Given the description of an element on the screen output the (x, y) to click on. 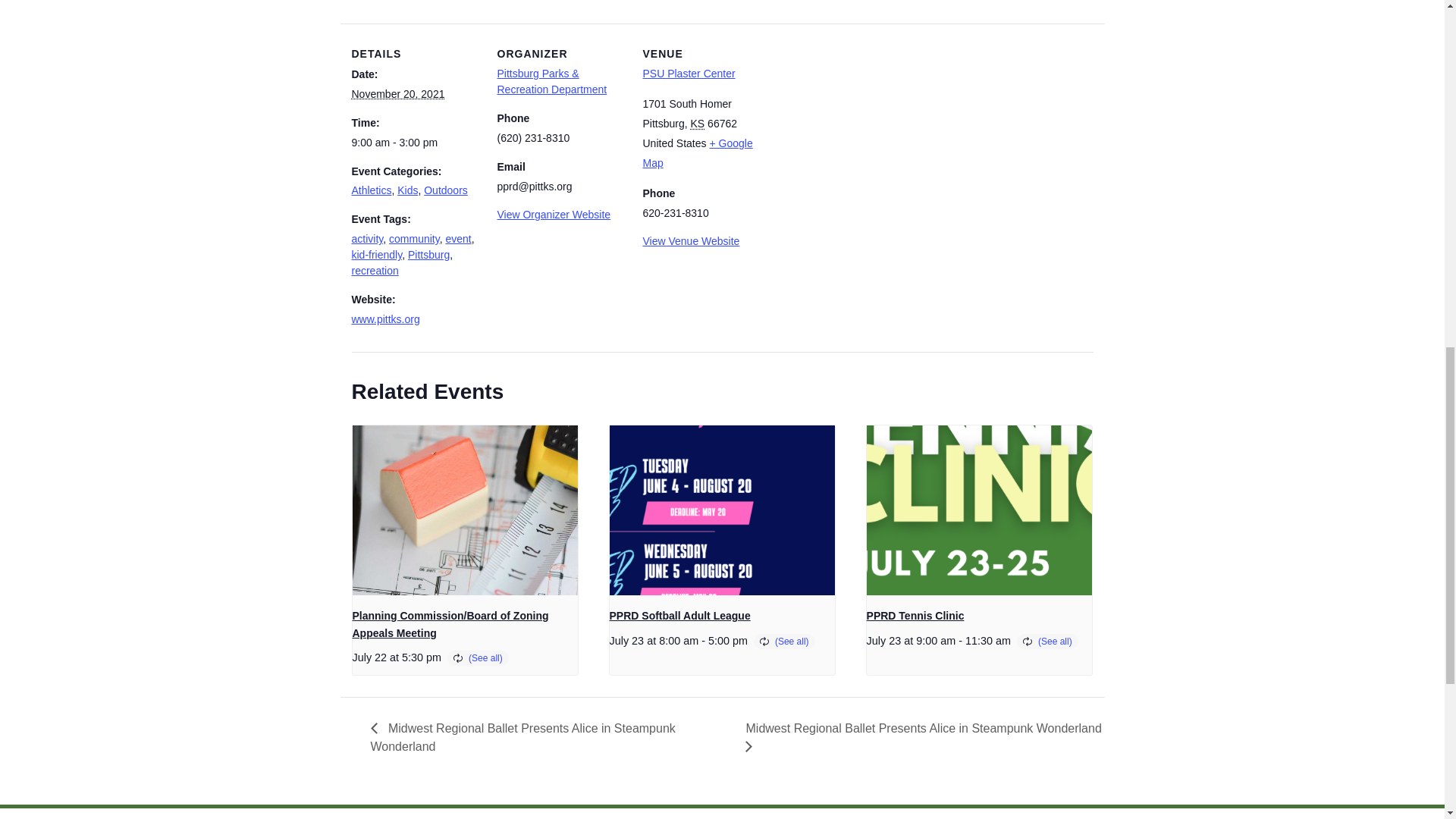
Kansas (697, 123)
Click to view a Google Map (697, 152)
2021-11-20 (398, 93)
2021-11-20 (415, 142)
